Given the description of an element on the screen output the (x, y) to click on. 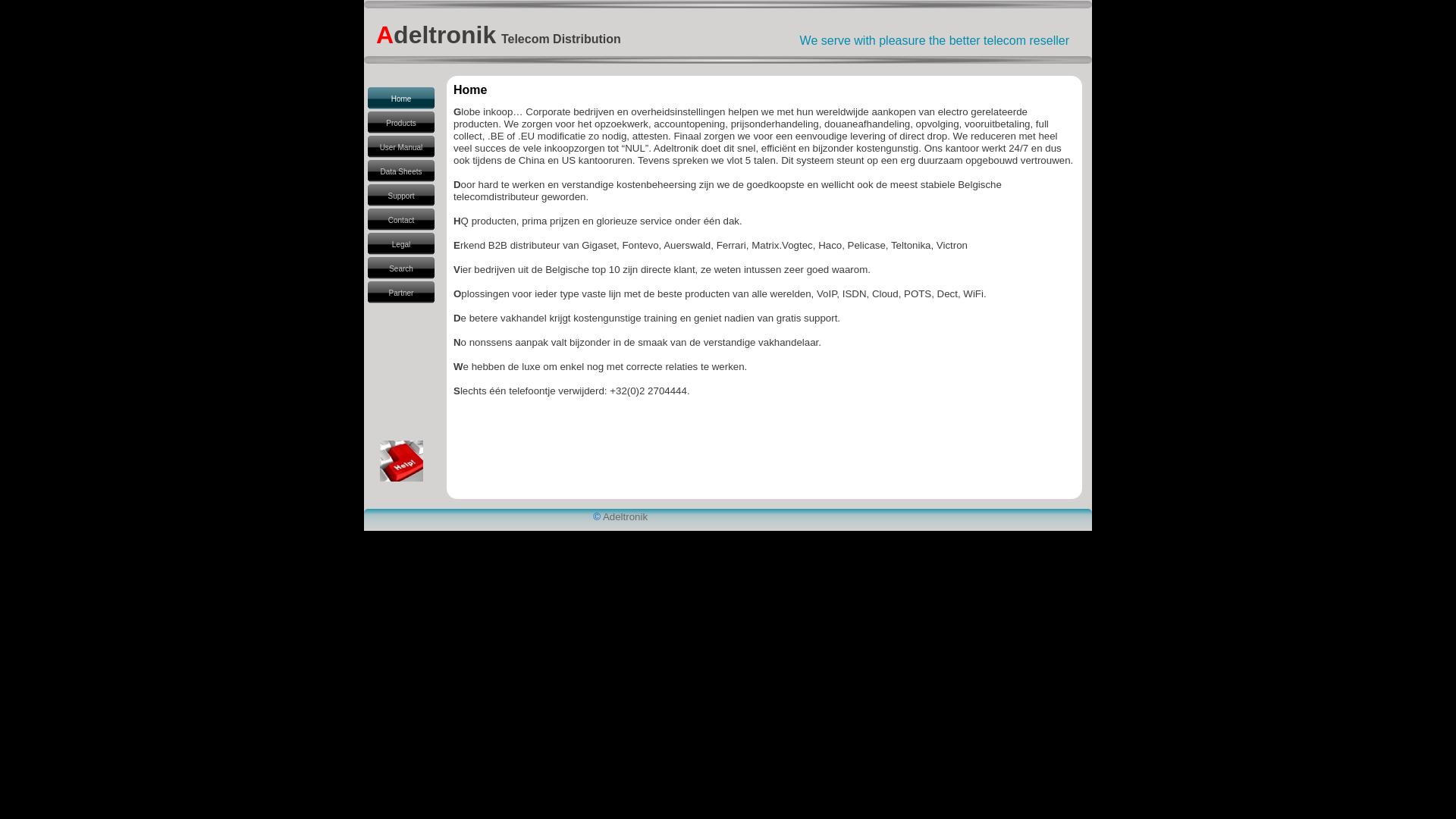
Partner Element type: text (401, 292)
Support Element type: text (401, 195)
Home Element type: text (401, 98)
Search Element type: text (401, 268)
Data Sheets Element type: text (401, 171)
User Manual Element type: text (401, 146)
Contact Element type: text (401, 219)
Helpdesk Element type: hover (401, 460)
Products Element type: text (401, 122)
Legal Element type: text (401, 243)
